Given the description of an element on the screen output the (x, y) to click on. 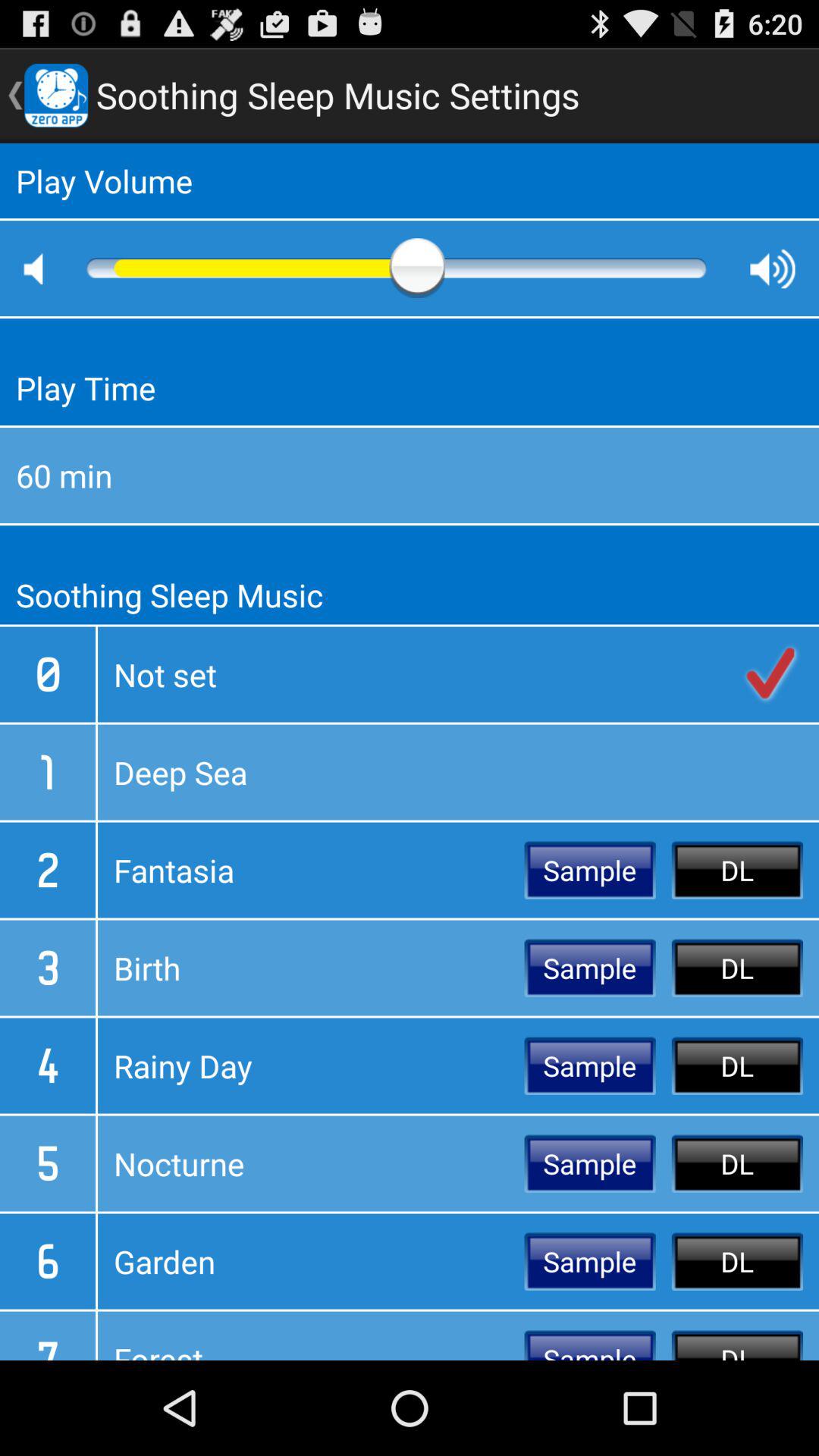
choose not set item (458, 674)
